Given the description of an element on the screen output the (x, y) to click on. 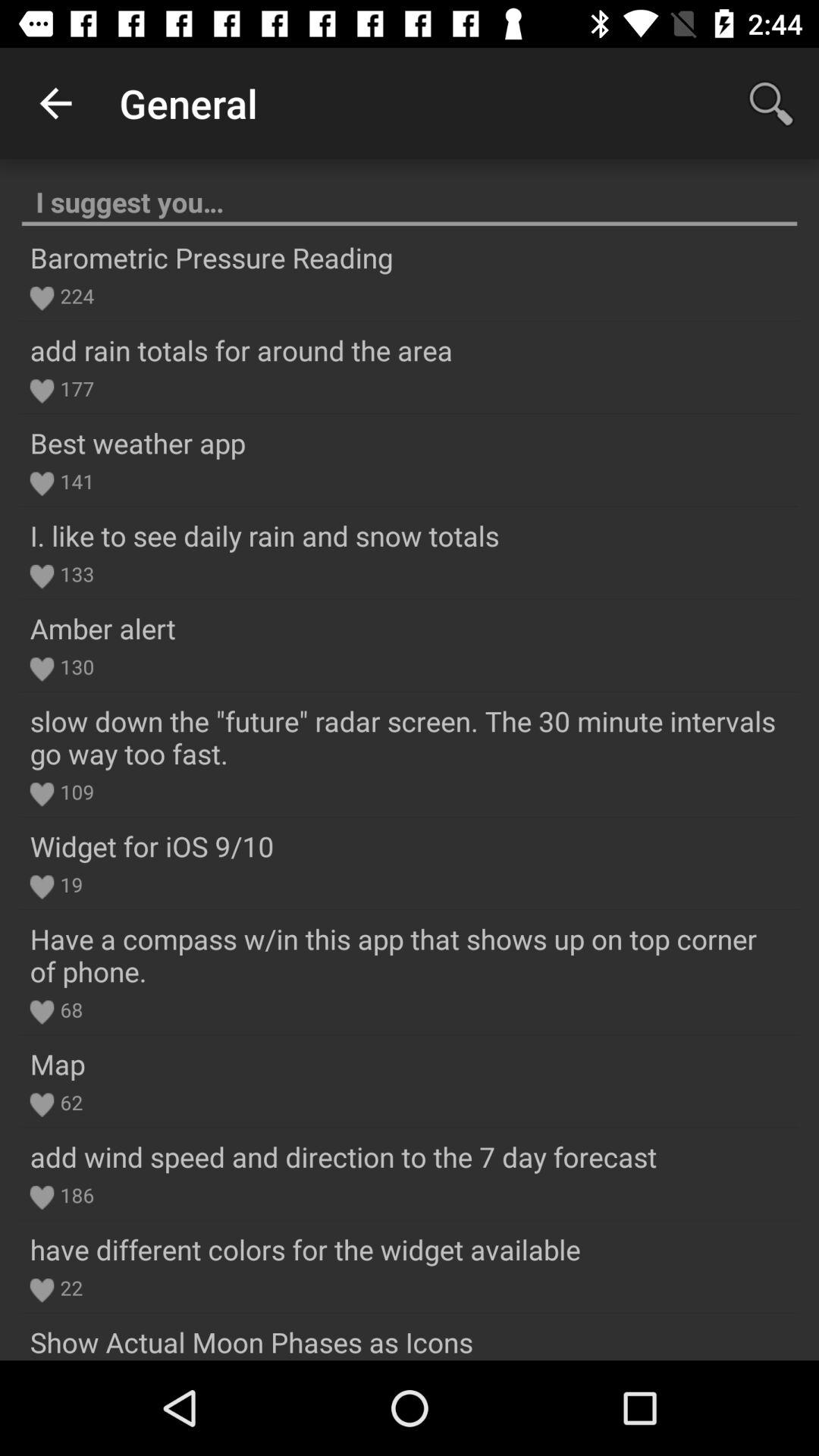
scroll to the 68 icon (68, 1009)
